Given the description of an element on the screen output the (x, y) to click on. 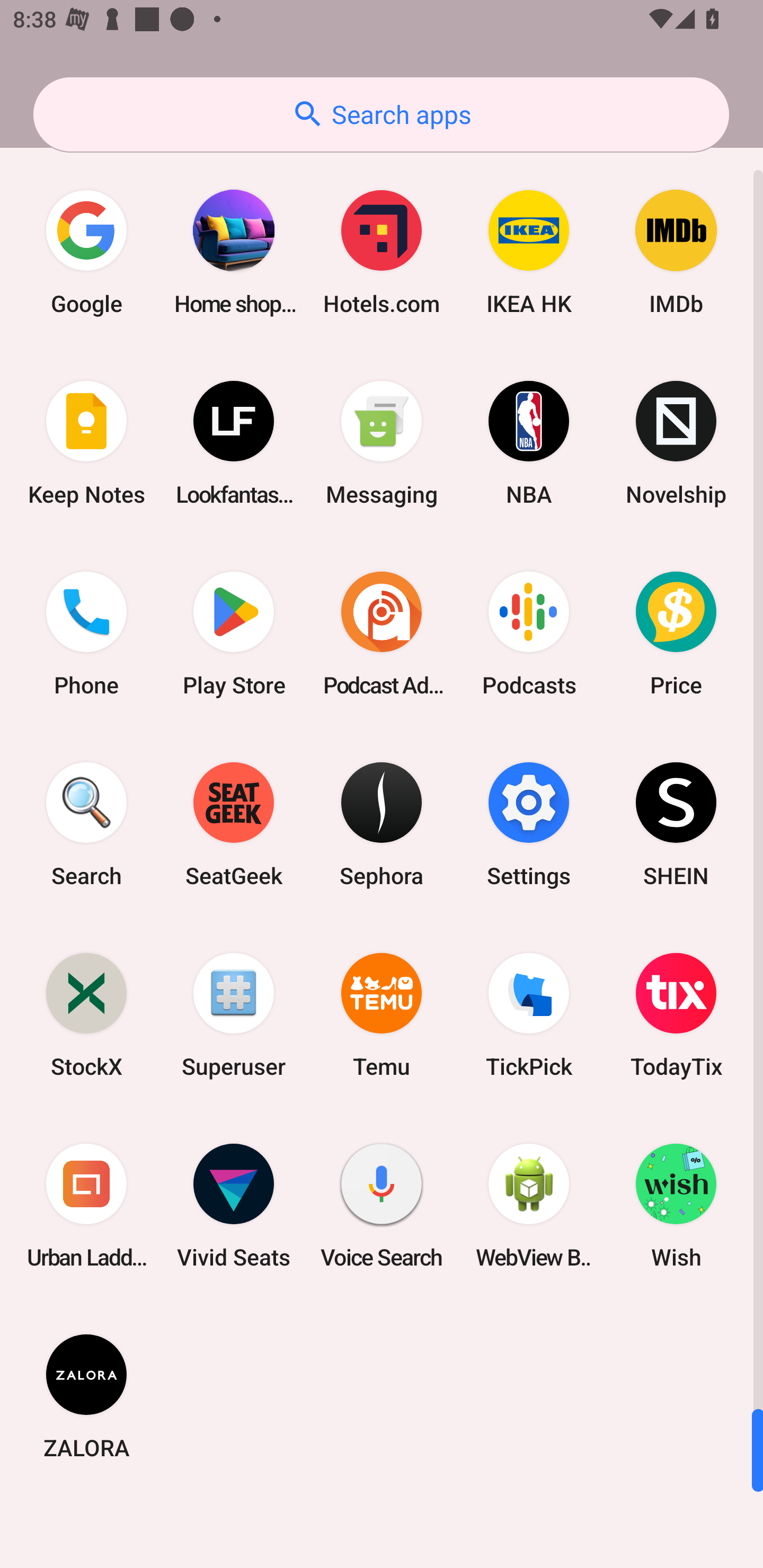
  Search apps (381, 114)
Google (86, 252)
Home shopping (233, 252)
Hotels.com (381, 252)
IKEA HK (528, 252)
IMDb (676, 252)
Keep Notes (86, 442)
Lookfantastic (233, 442)
Messaging (381, 442)
NBA (528, 442)
Novelship (676, 442)
Phone (86, 633)
Play Store (233, 633)
Podcast Addict (381, 633)
Podcasts (528, 633)
Price (676, 633)
Search (86, 823)
SeatGeek (233, 823)
Sephora (381, 823)
Settings (528, 823)
SHEIN (676, 823)
StockX (86, 1014)
Superuser (233, 1014)
Temu (381, 1014)
TickPick (528, 1014)
TodayTix (676, 1014)
Urban Ladder (86, 1205)
Vivid Seats (233, 1205)
Voice Search (381, 1205)
WebView Browser Tester (528, 1205)
Wish (676, 1205)
ZALORA (86, 1396)
